Given the description of an element on the screen output the (x, y) to click on. 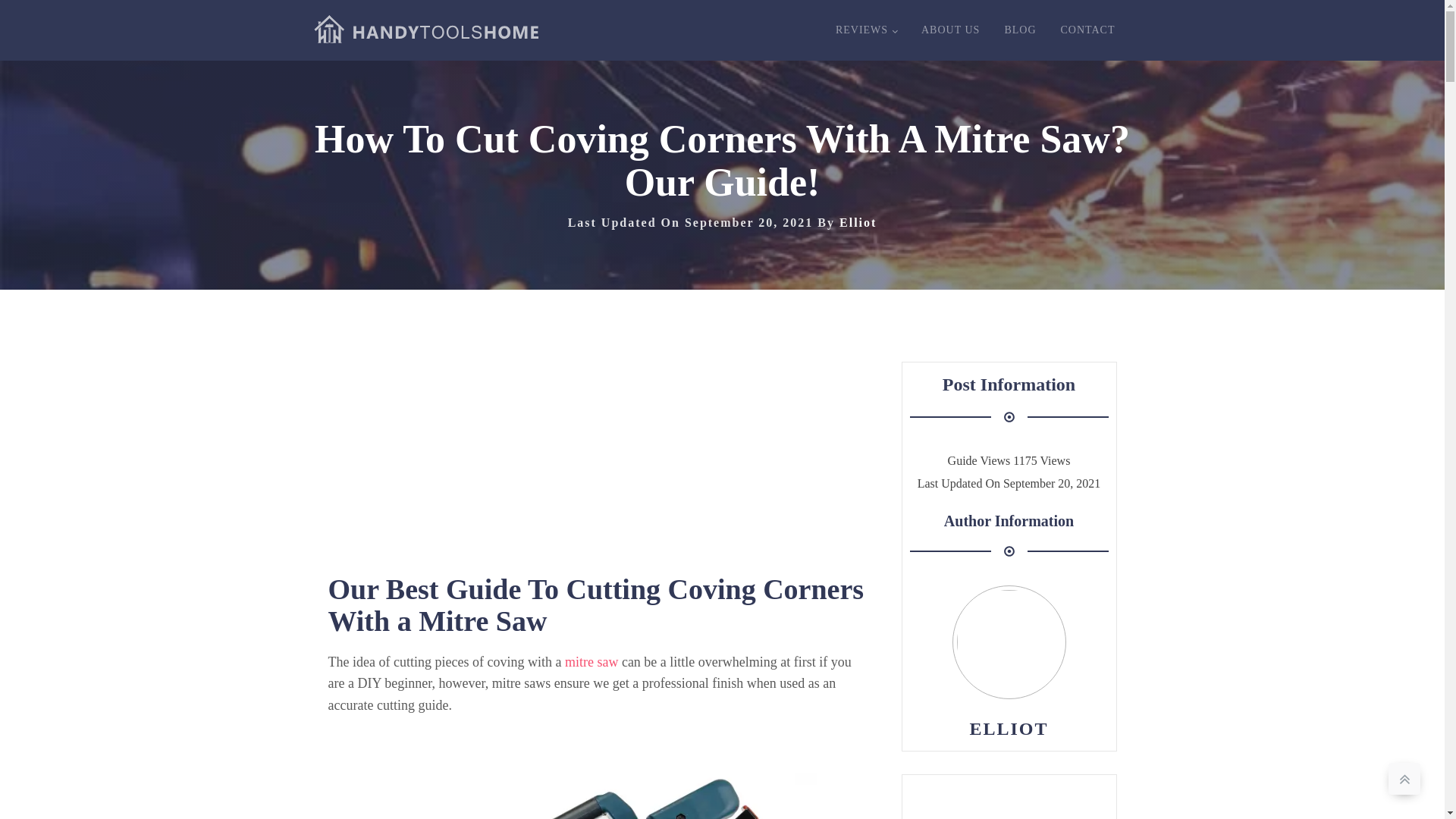
ABOUT US (949, 30)
mitre saw (590, 661)
ELLIOT (1008, 728)
Elliot (858, 222)
BLOG (1019, 30)
REVIEWS (866, 30)
CONTACT (1087, 30)
